Given the description of an element on the screen output the (x, y) to click on. 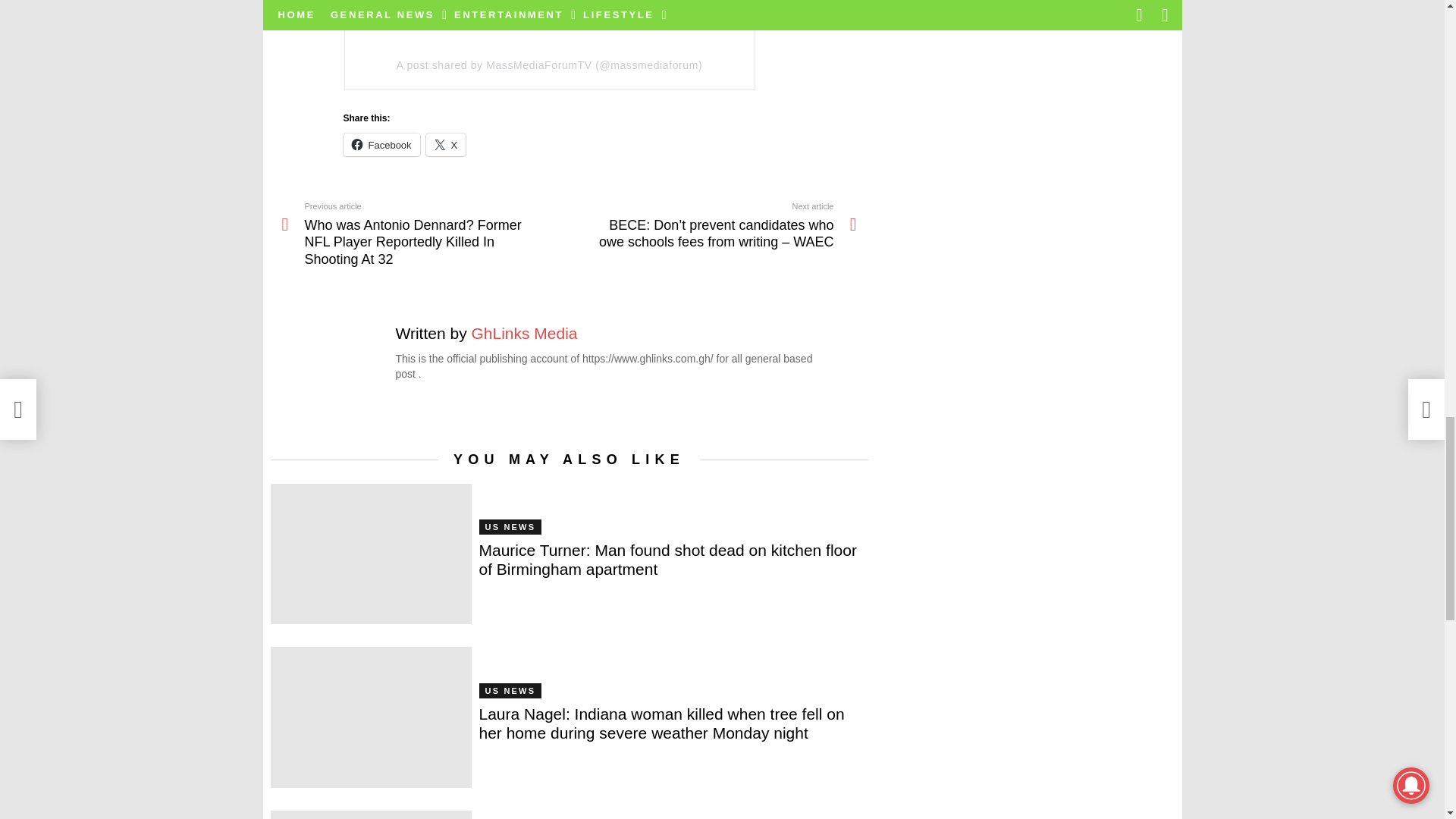
X (445, 144)
Jalynn Guillory: Woman Survives After Being Shot 12 Times (369, 814)
Facebook (380, 144)
Click to share on Facebook (380, 144)
Click to share on X (445, 144)
GhLinks Media (523, 333)
